Given the description of an element on the screen output the (x, y) to click on. 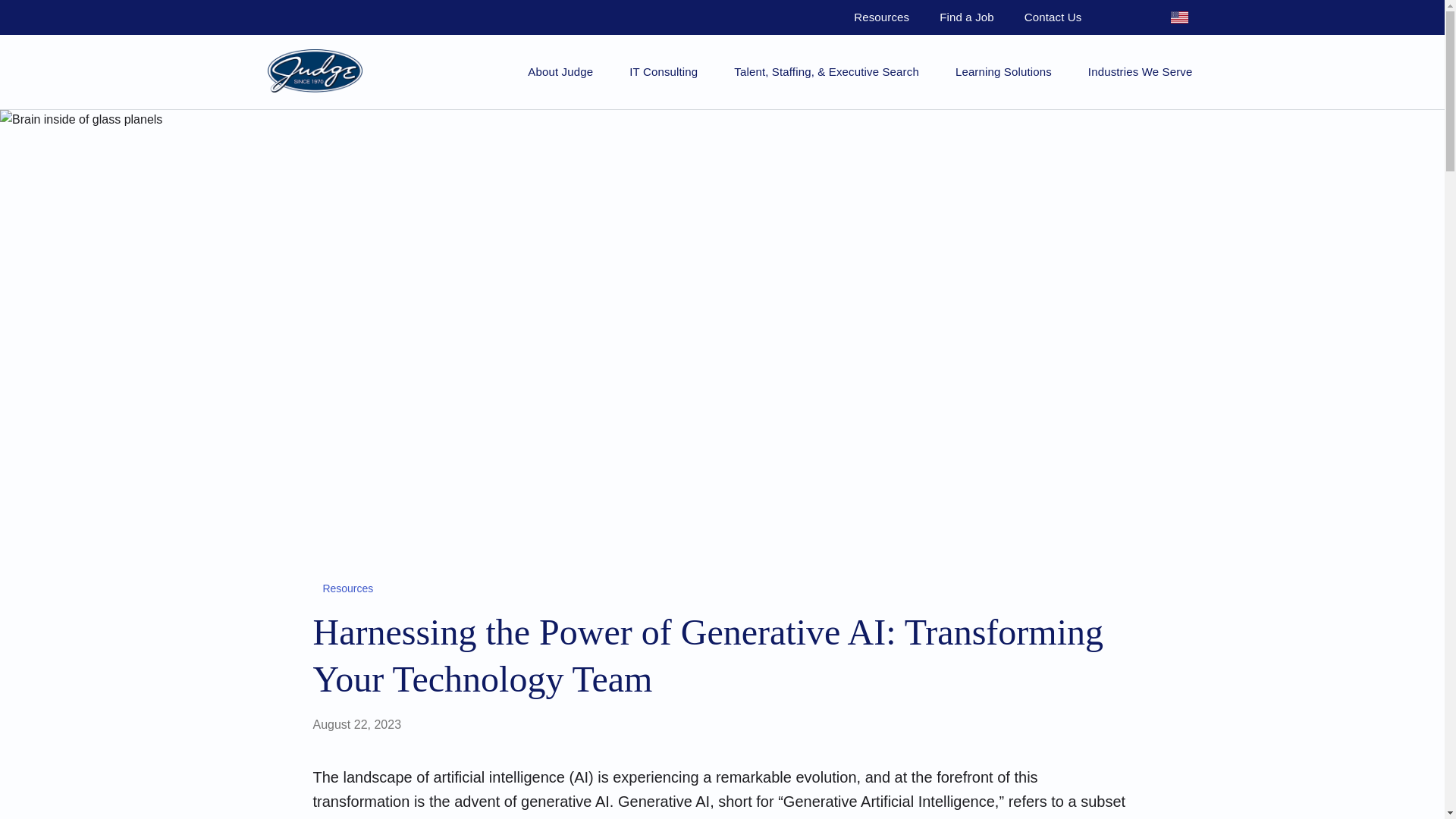
IT Consulting (663, 71)
Resources (343, 588)
Industries We Serve (1139, 71)
SEARCH (1124, 16)
Find a Job (966, 17)
About Judge (559, 71)
Judge Group (313, 70)
Contact Us (1053, 17)
Learning Solutions (1003, 71)
